Given the description of an element on the screen output the (x, y) to click on. 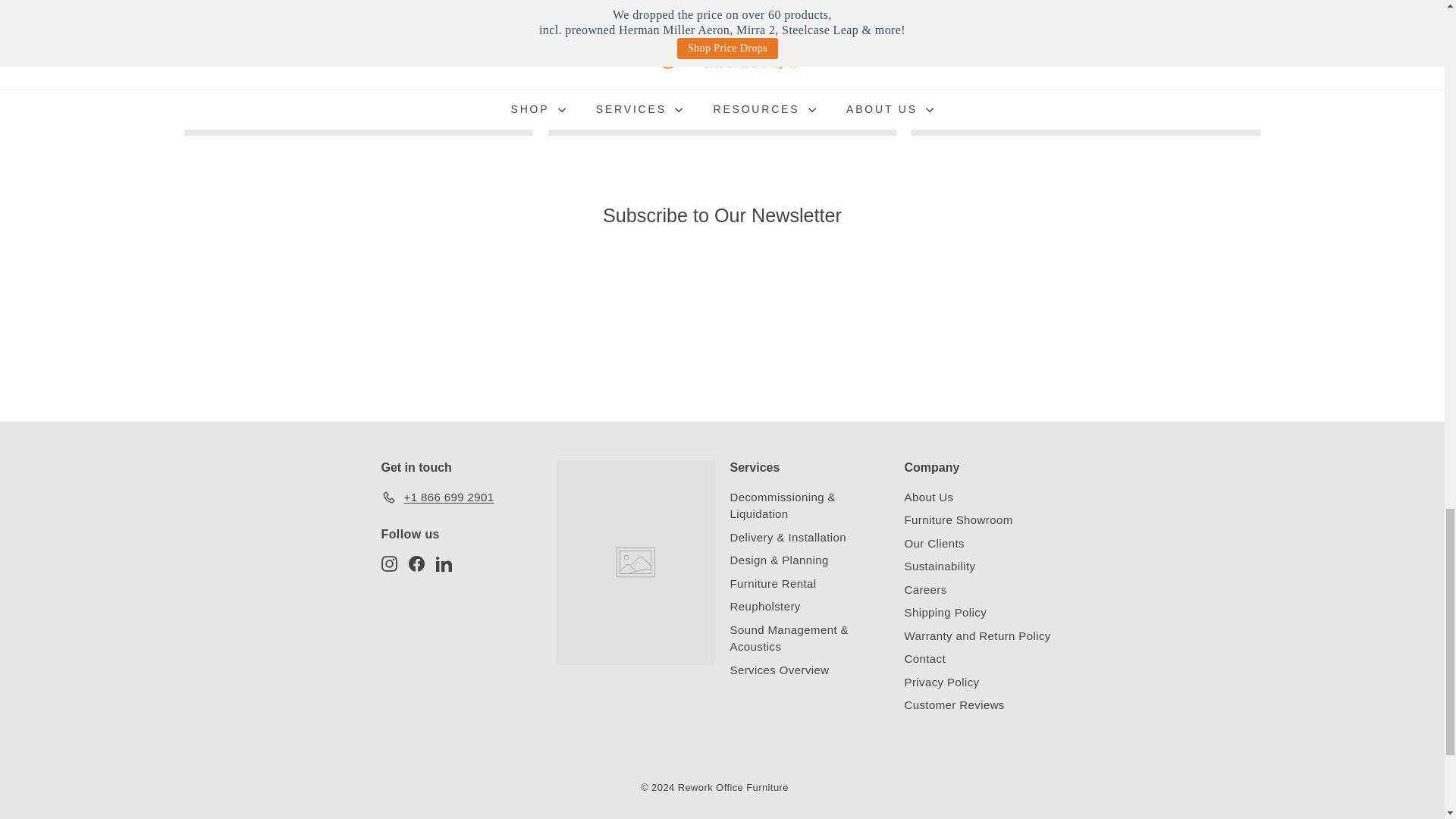
instagram (388, 563)
Rework Office Furniture on LinkedIn (443, 563)
Rework Office Furniture on Instagram (388, 563)
Rework Office Furniture on Facebook (415, 563)
Form 0 (721, 333)
